Given the description of an element on the screen output the (x, y) to click on. 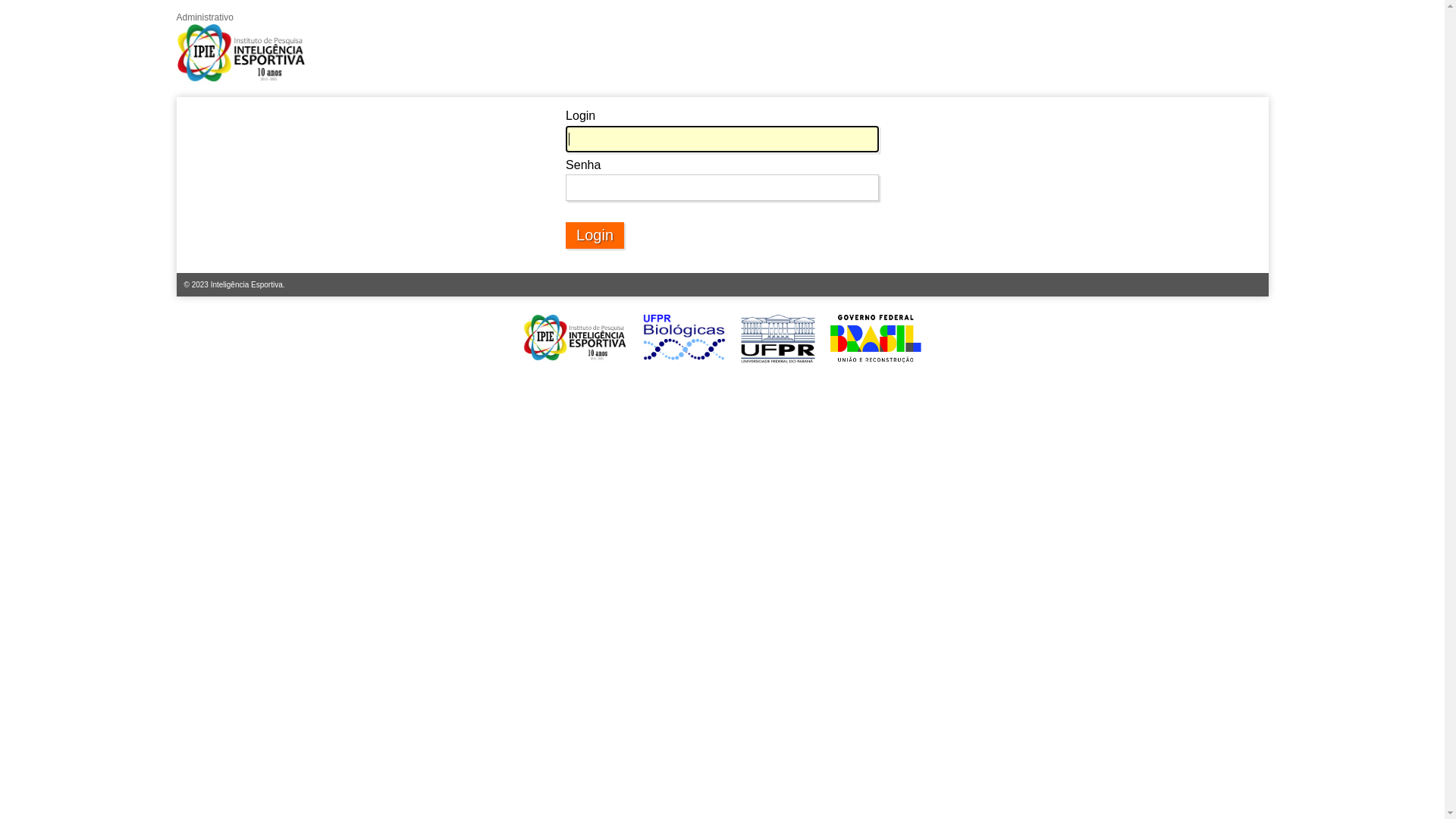
Administrativo Element type: text (240, 48)
Login Element type: text (594, 235)
